Given the description of an element on the screen output the (x, y) to click on. 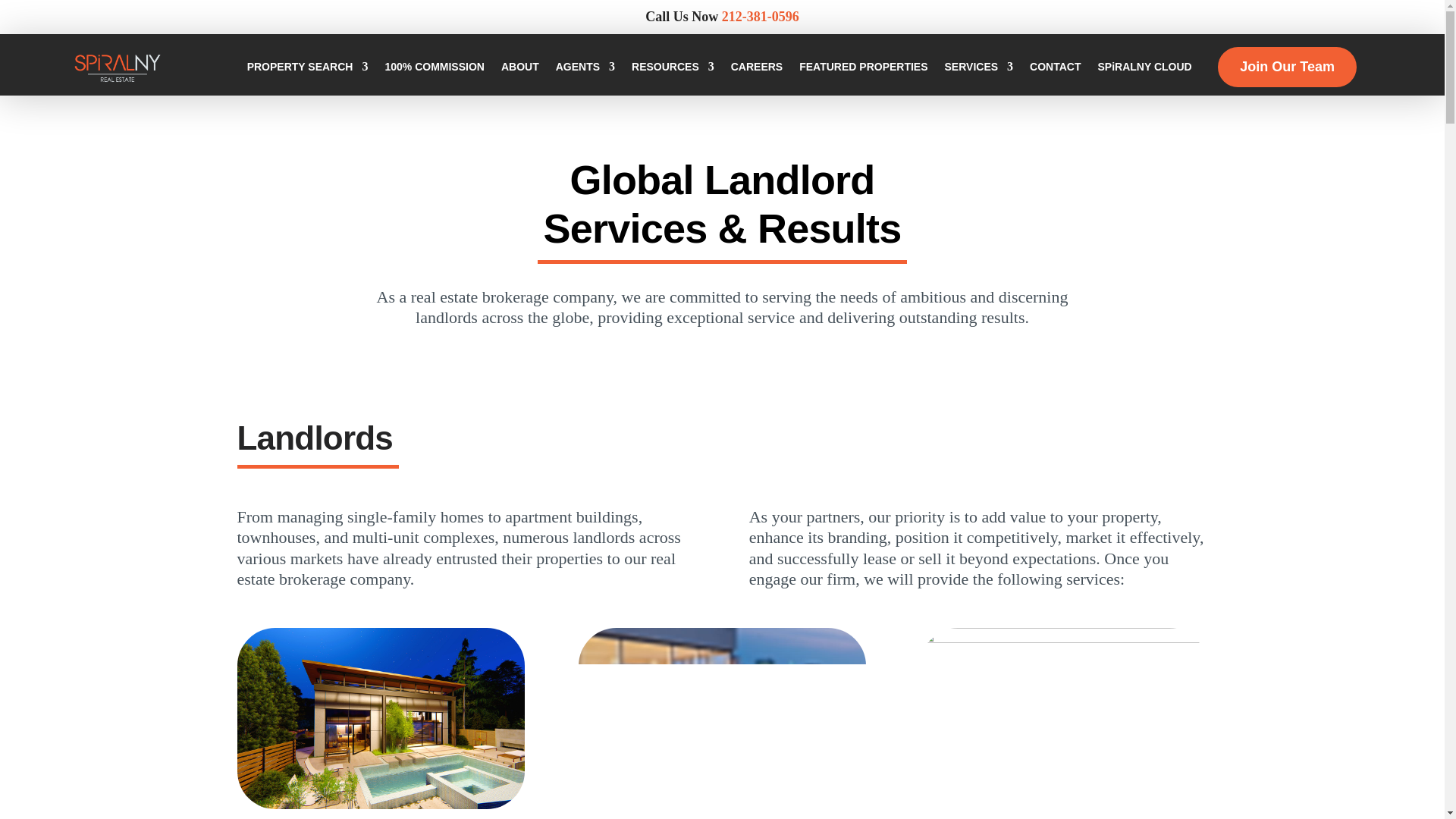
SERVICES (978, 66)
212-381-0596 (760, 16)
PROPERTY SEARCH (307, 66)
RESOURCES (672, 66)
816846 (722, 718)
FEATURED PROPERTIES (863, 66)
SPiRALNY CLOUD (1144, 66)
AGENTS (585, 66)
CAREERS (756, 66)
